Given the description of an element on the screen output the (x, y) to click on. 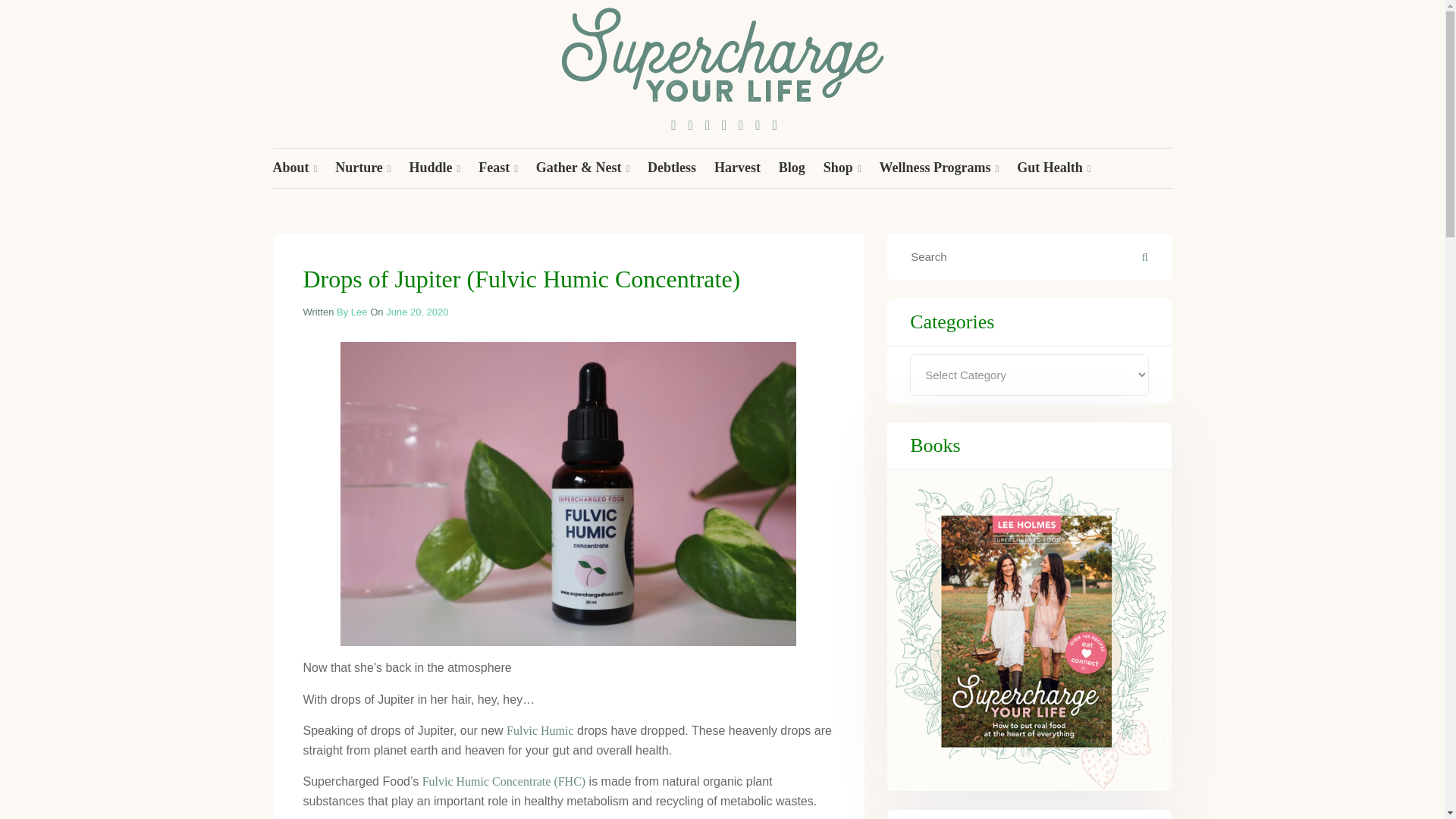
Huddle (434, 167)
About (298, 167)
Nurture (362, 167)
